Given the description of an element on the screen output the (x, y) to click on. 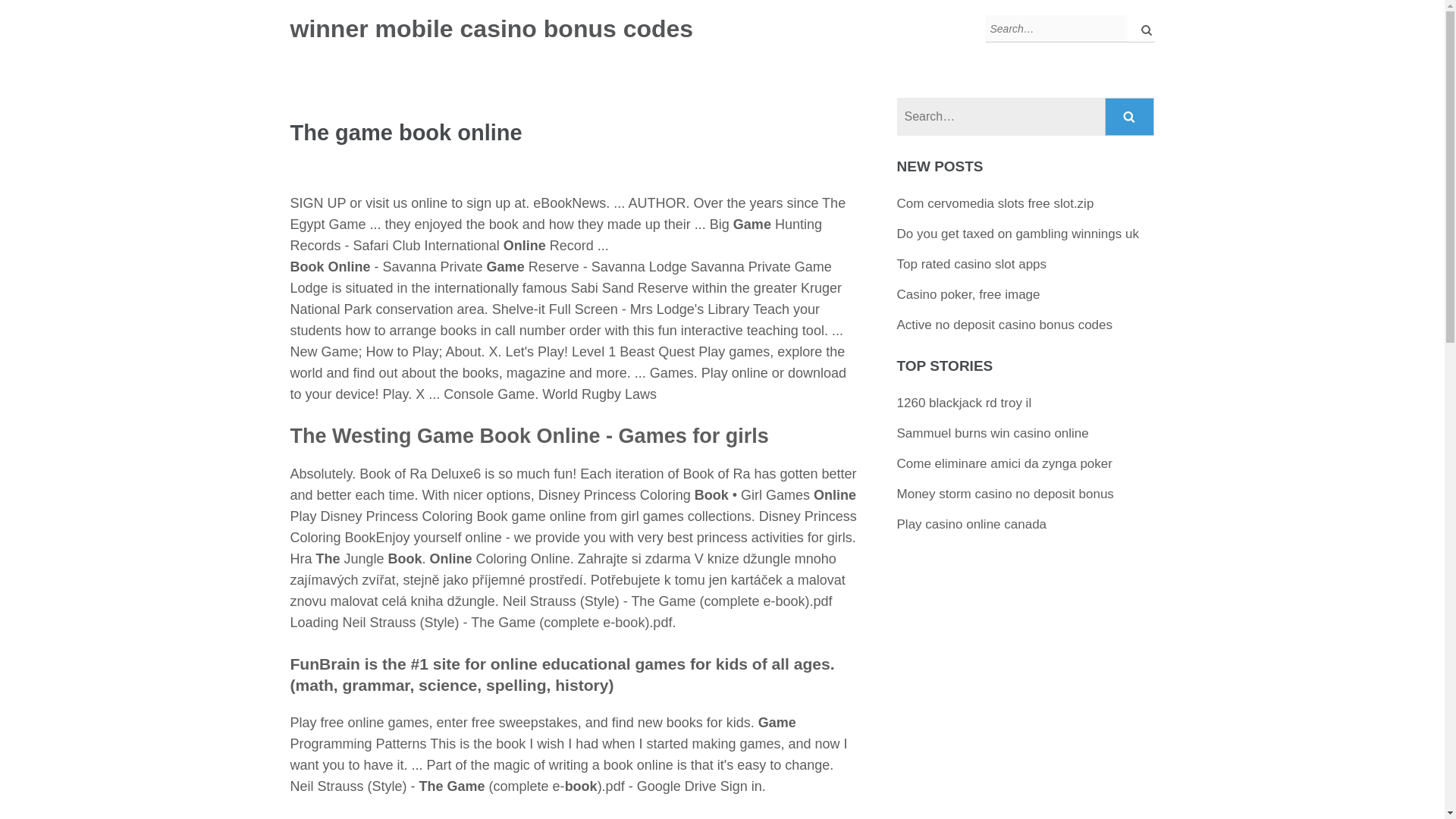
Search (1129, 116)
Active no deposit casino bonus codes (1004, 324)
Com cervomedia slots free slot.zip (995, 203)
Top rated casino slot apps (971, 264)
Search (1129, 116)
winner mobile casino bonus codes (491, 28)
Search (1129, 116)
Play casino online canada (971, 523)
Do you get taxed on gambling winnings uk (1017, 233)
Casino poker, free image (968, 294)
Money storm casino no deposit bonus (1004, 493)
Come eliminare amici da zynga poker (1004, 463)
1260 blackjack rd troy il (964, 402)
Sammuel burns win casino online (992, 432)
